Given the description of an element on the screen output the (x, y) to click on. 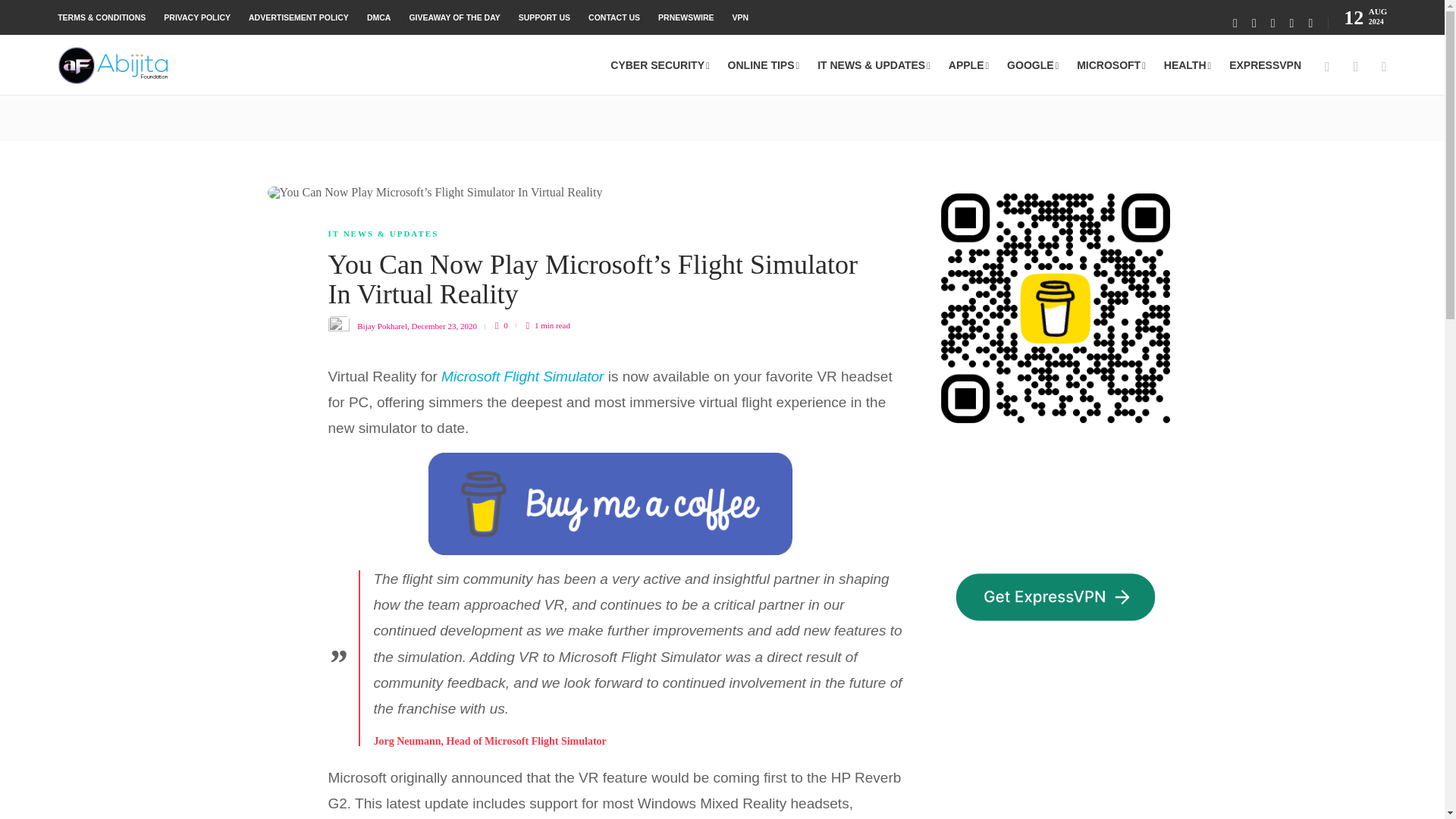
CYBER SECURITY (659, 65)
MICROSOFT (1111, 65)
GOOGLE (1032, 65)
PRNEWSWIRE (686, 17)
GIVEAWAY OF THE DAY (454, 17)
SUPPORT US (544, 17)
EXPRESSVPN (1264, 65)
CONTACT US (614, 17)
PRIVACY POLICY (196, 17)
ADVERTISEMENT POLICY (298, 17)
